Given the description of an element on the screen output the (x, y) to click on. 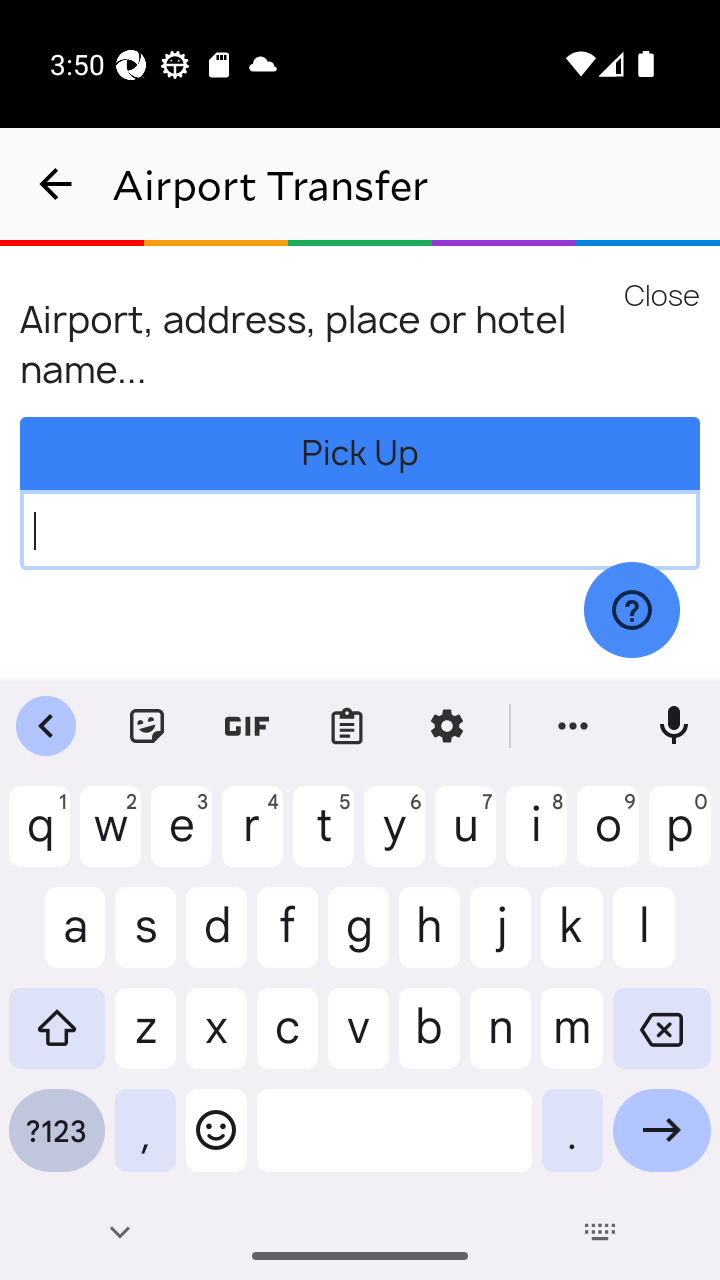
navigation_button (56, 184)
Close (660, 294)
Opens a widget where you can find more information (631, 611)
